Given the description of an element on the screen output the (x, y) to click on. 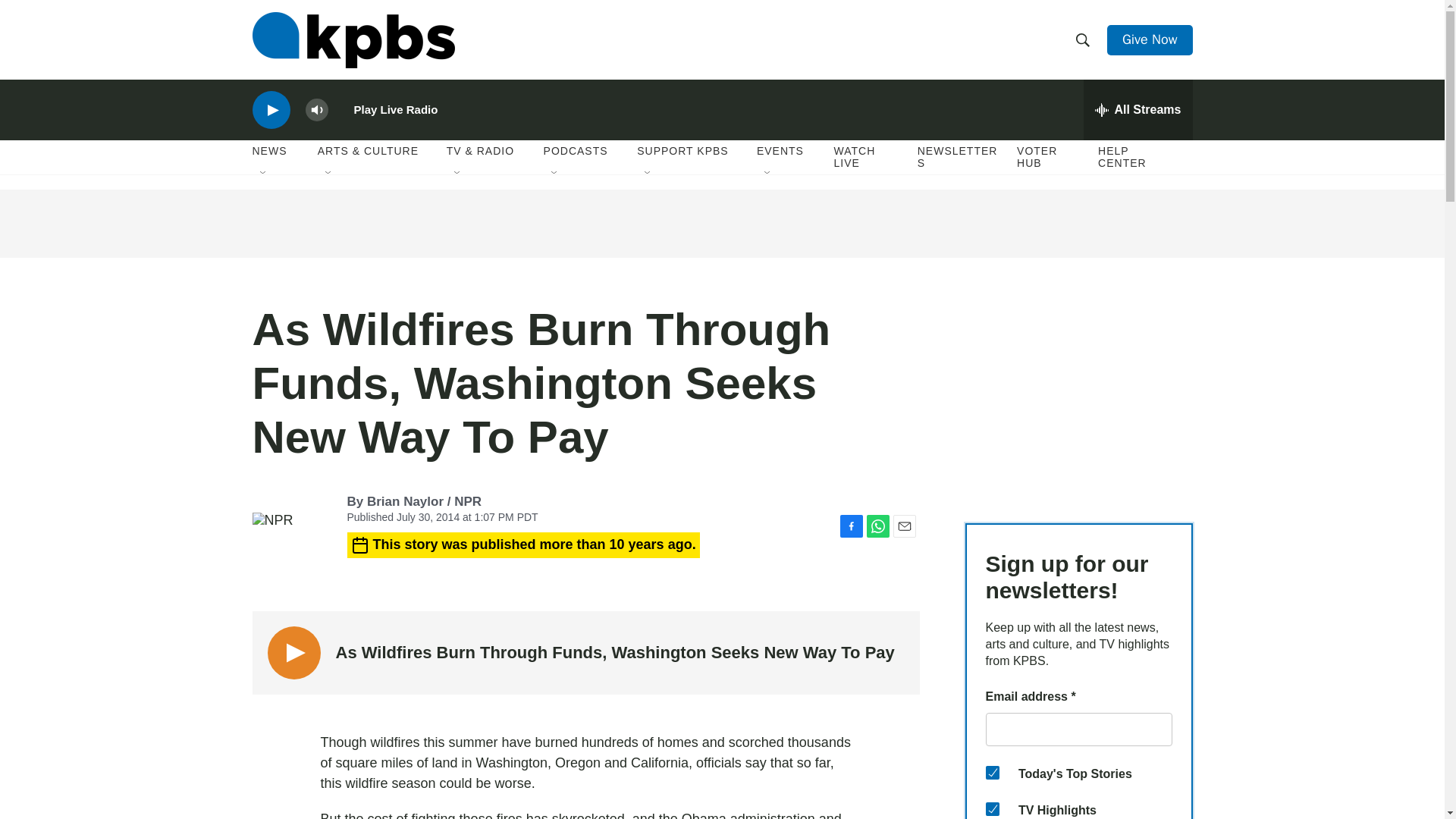
5 (991, 808)
4 (991, 772)
